Given the description of an element on the screen output the (x, y) to click on. 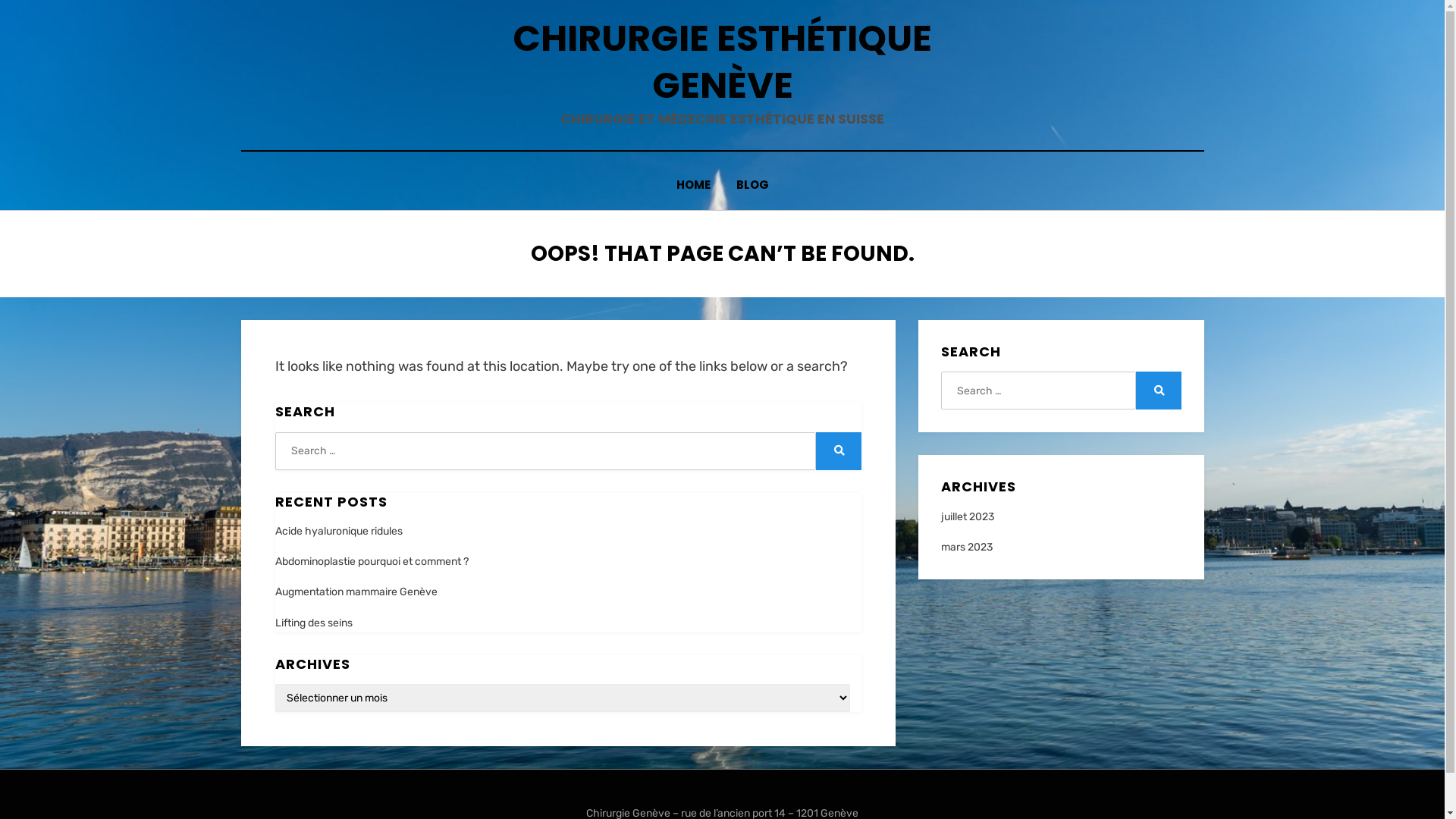
Abdominoplastie pourquoi et comment ? Element type: text (370, 561)
Search Element type: text (1158, 390)
Search for: Element type: hover (1038, 390)
Lifting des seins Element type: text (312, 621)
Search Element type: text (838, 451)
Acide hyaluronique ridules Element type: text (337, 530)
Search for: Element type: hover (544, 451)
mars 2023 Element type: text (966, 546)
HOME Element type: text (692, 184)
BLOG Element type: text (752, 184)
juillet 2023 Element type: text (967, 516)
